Given the description of an element on the screen output the (x, y) to click on. 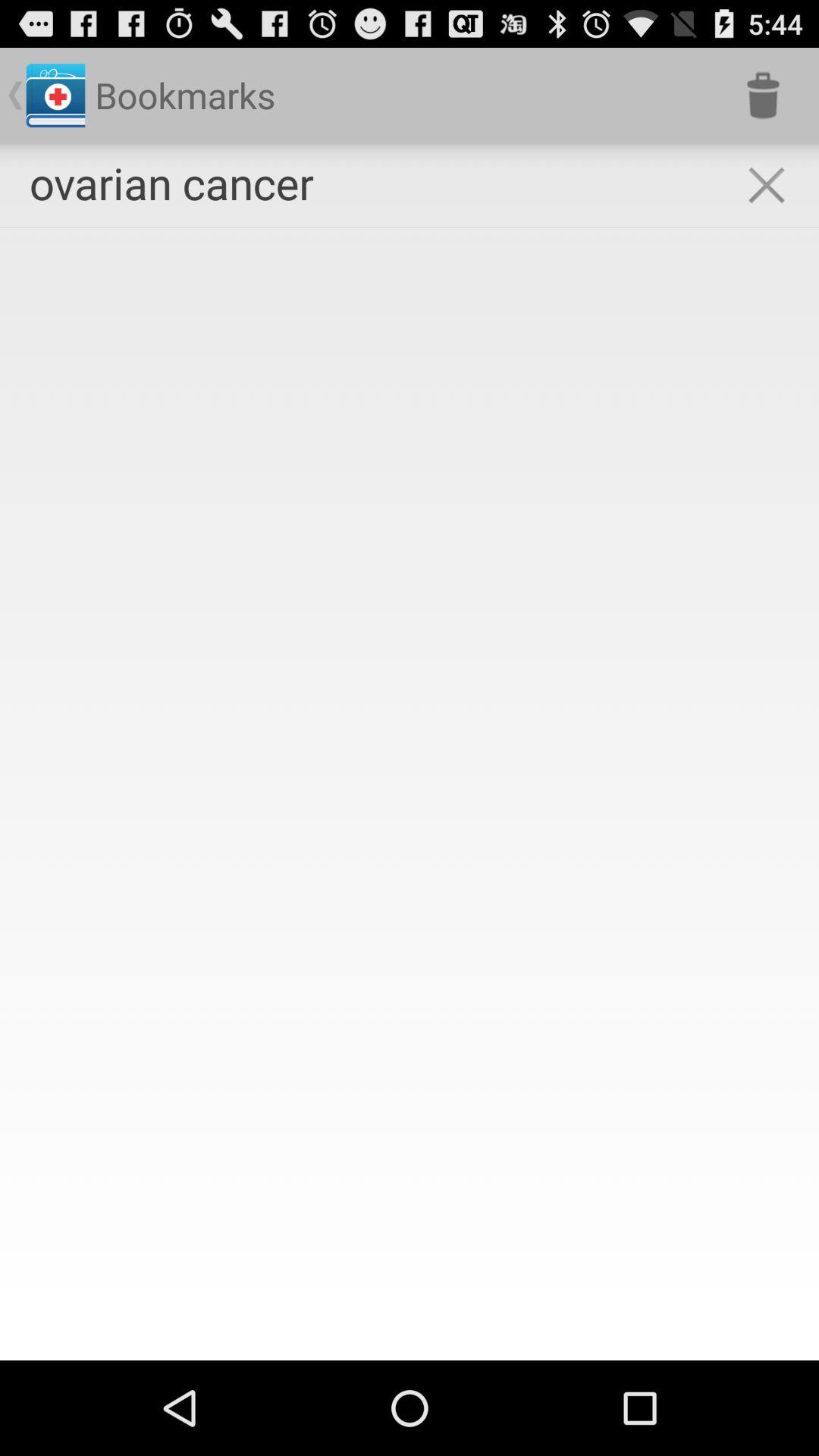
click icon to the right of ovarian cancer item (763, 95)
